Given the description of an element on the screen output the (x, y) to click on. 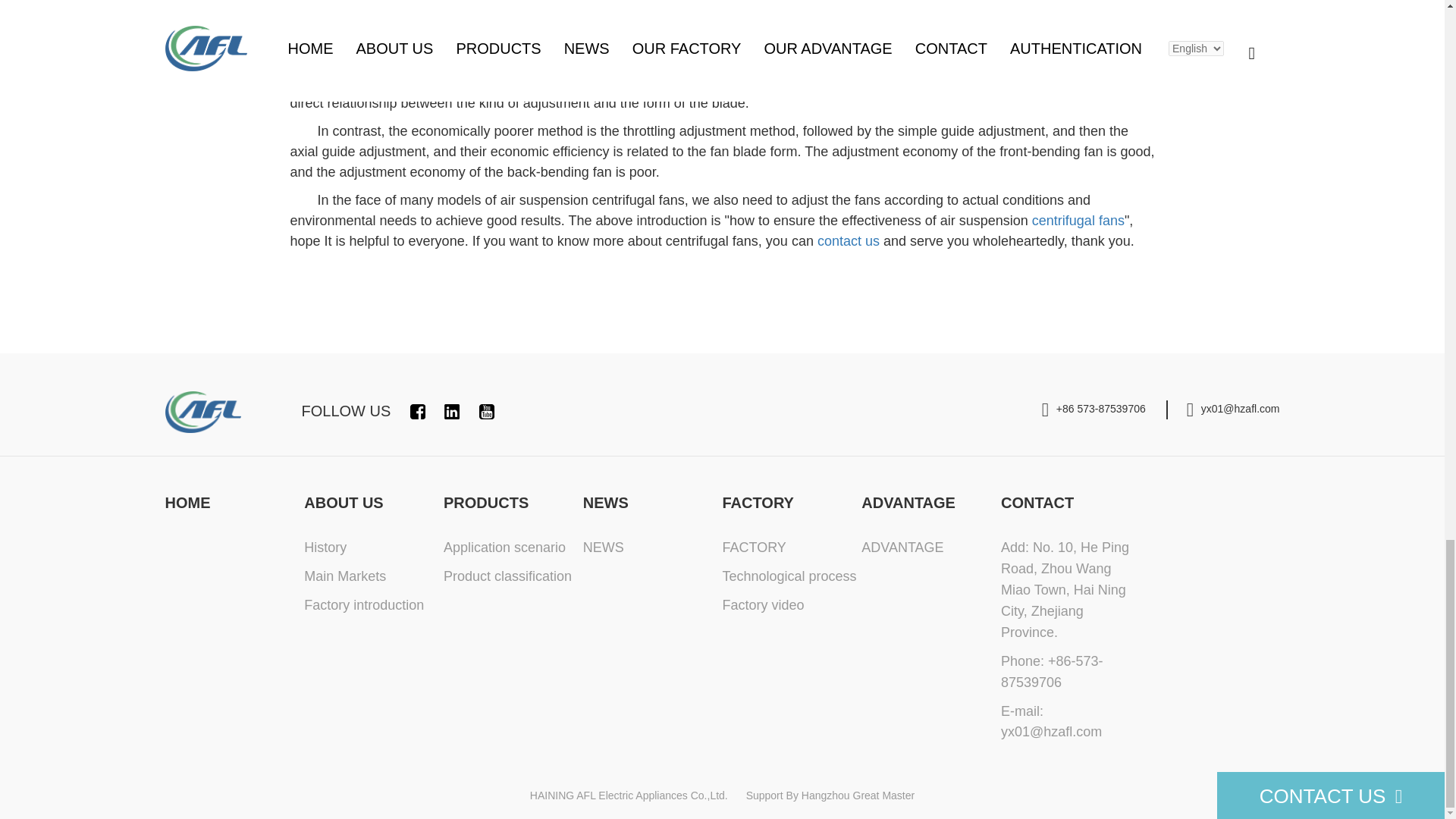
ABOUT US (343, 502)
Application scenario (505, 547)
Product classification (508, 575)
Main Markets (344, 575)
Factory introduction (363, 604)
centrifugal fans (1078, 220)
PRODUCTS (486, 502)
History (325, 547)
HOME (188, 502)
NEWS (605, 502)
production (790, 193)
contact us (847, 240)
